Given the description of an element on the screen output the (x, y) to click on. 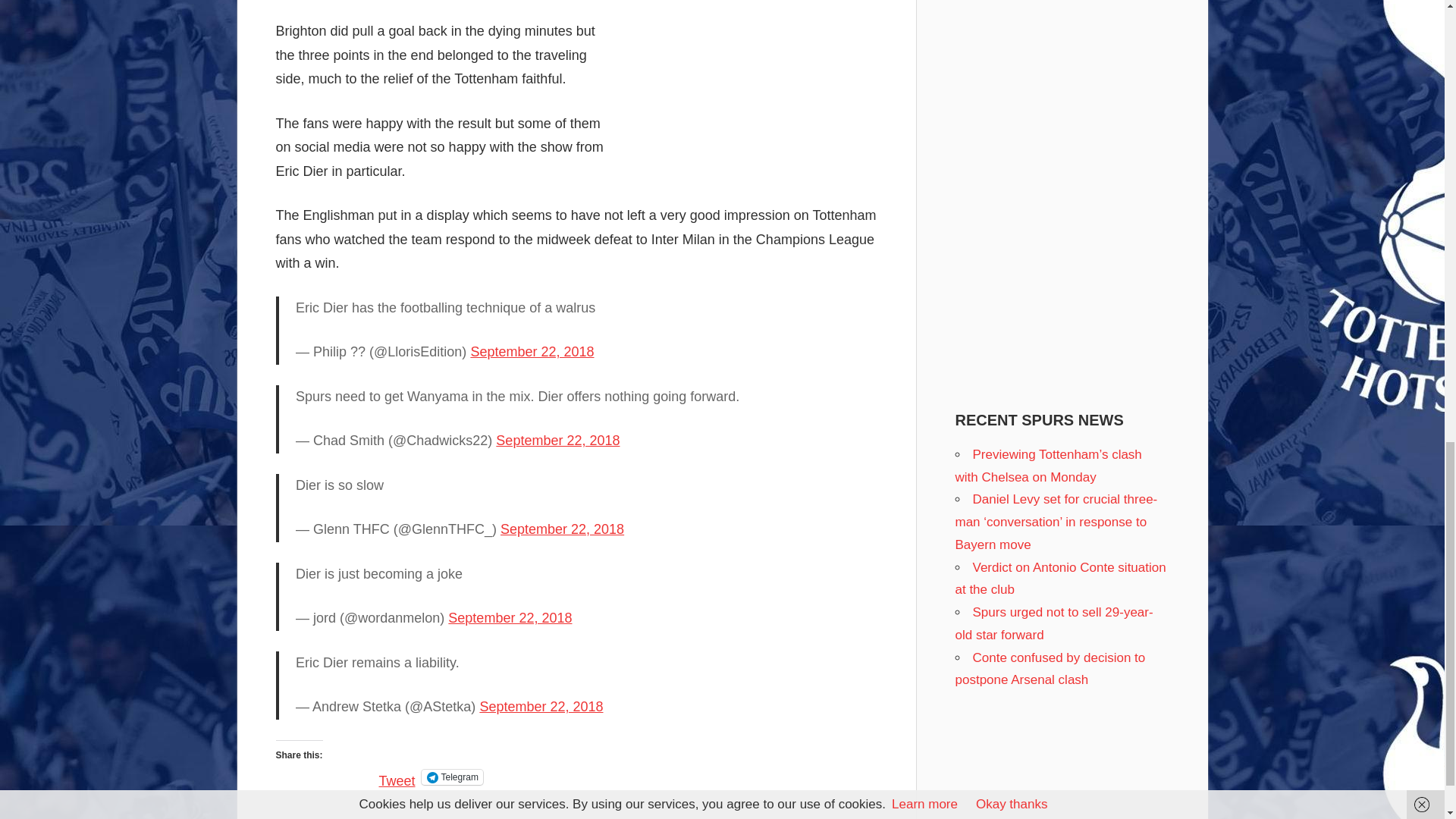
September 22, 2018 (558, 440)
September 22, 2018 (540, 706)
Verdict on Antonio Conte situation at the club (1060, 578)
Telegram (452, 776)
September 22, 2018 (510, 617)
Tweet (396, 775)
Click to share on Telegram (452, 776)
September 22, 2018 (532, 351)
September 22, 2018 (562, 529)
Advertisement (750, 73)
